Given the description of an element on the screen output the (x, y) to click on. 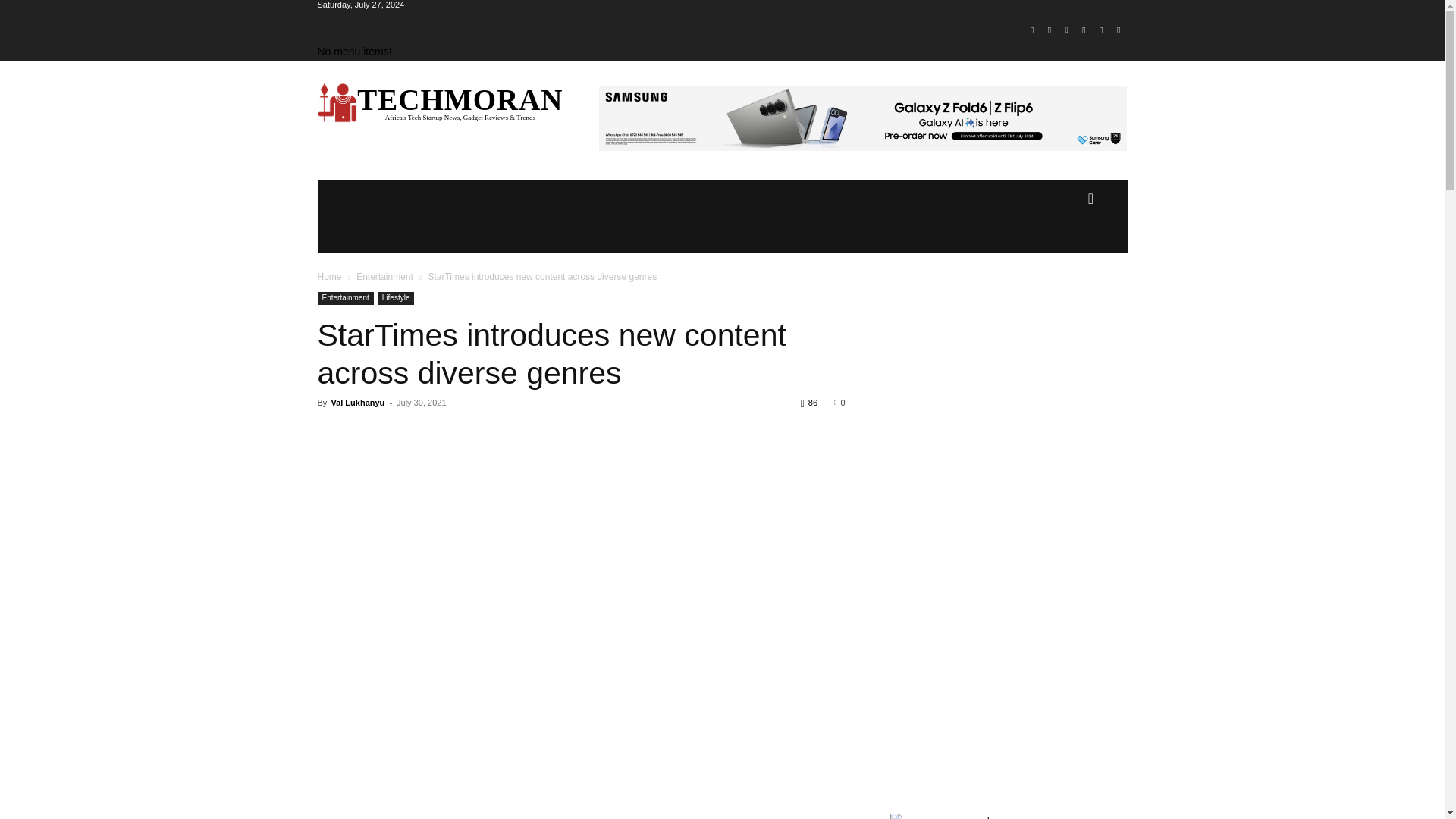
Twitter (1101, 30)
Instagram (1049, 30)
Linkedin (1066, 30)
Facebook (1032, 30)
Youtube (1117, 30)
Telegram (1084, 30)
View all posts in Entertainment (384, 276)
